Given the description of an element on the screen output the (x, y) to click on. 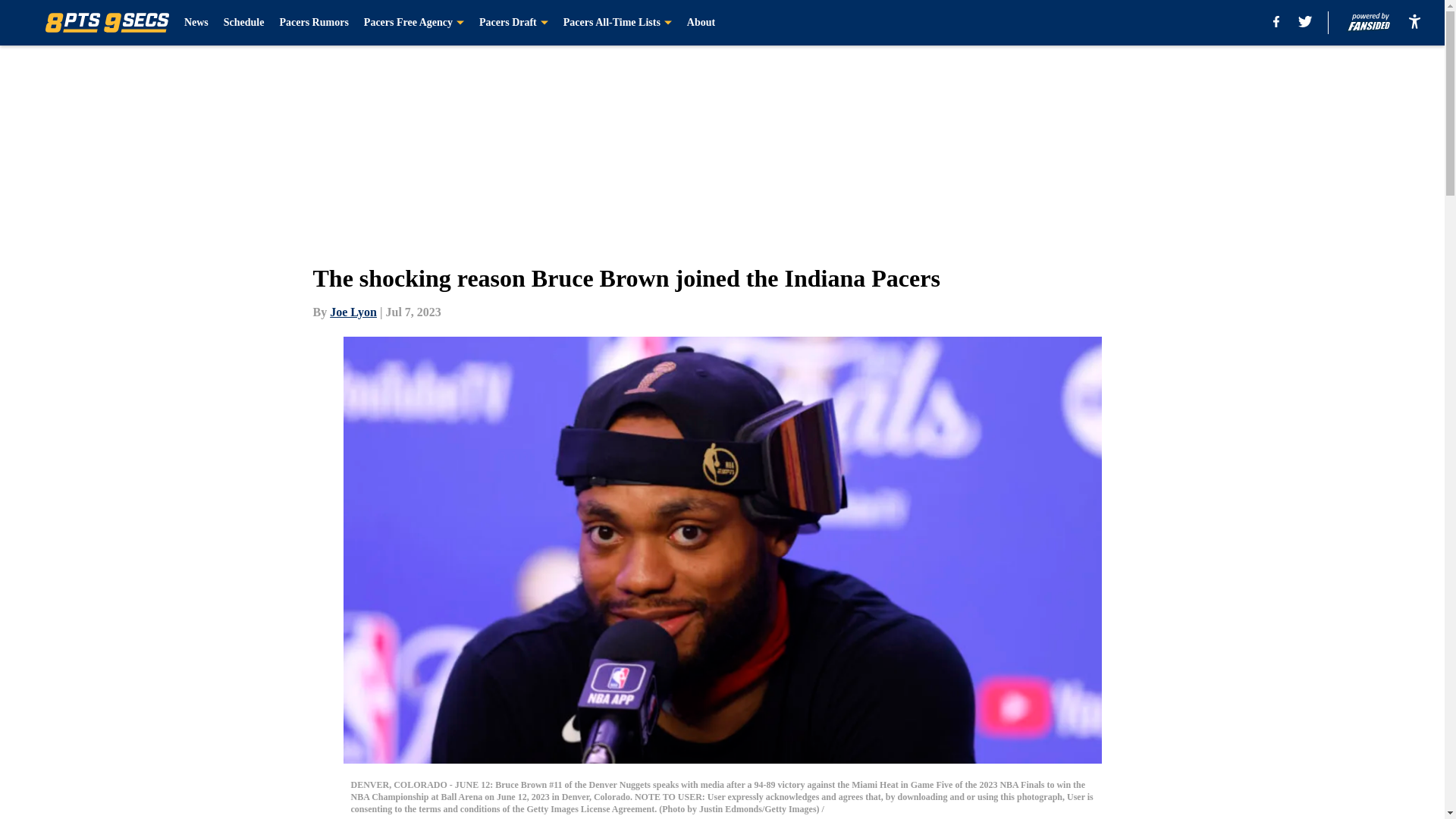
About (700, 22)
Joe Lyon (353, 311)
Schedule (244, 22)
News (196, 22)
Pacers Rumors (313, 22)
